Given the description of an element on the screen output the (x, y) to click on. 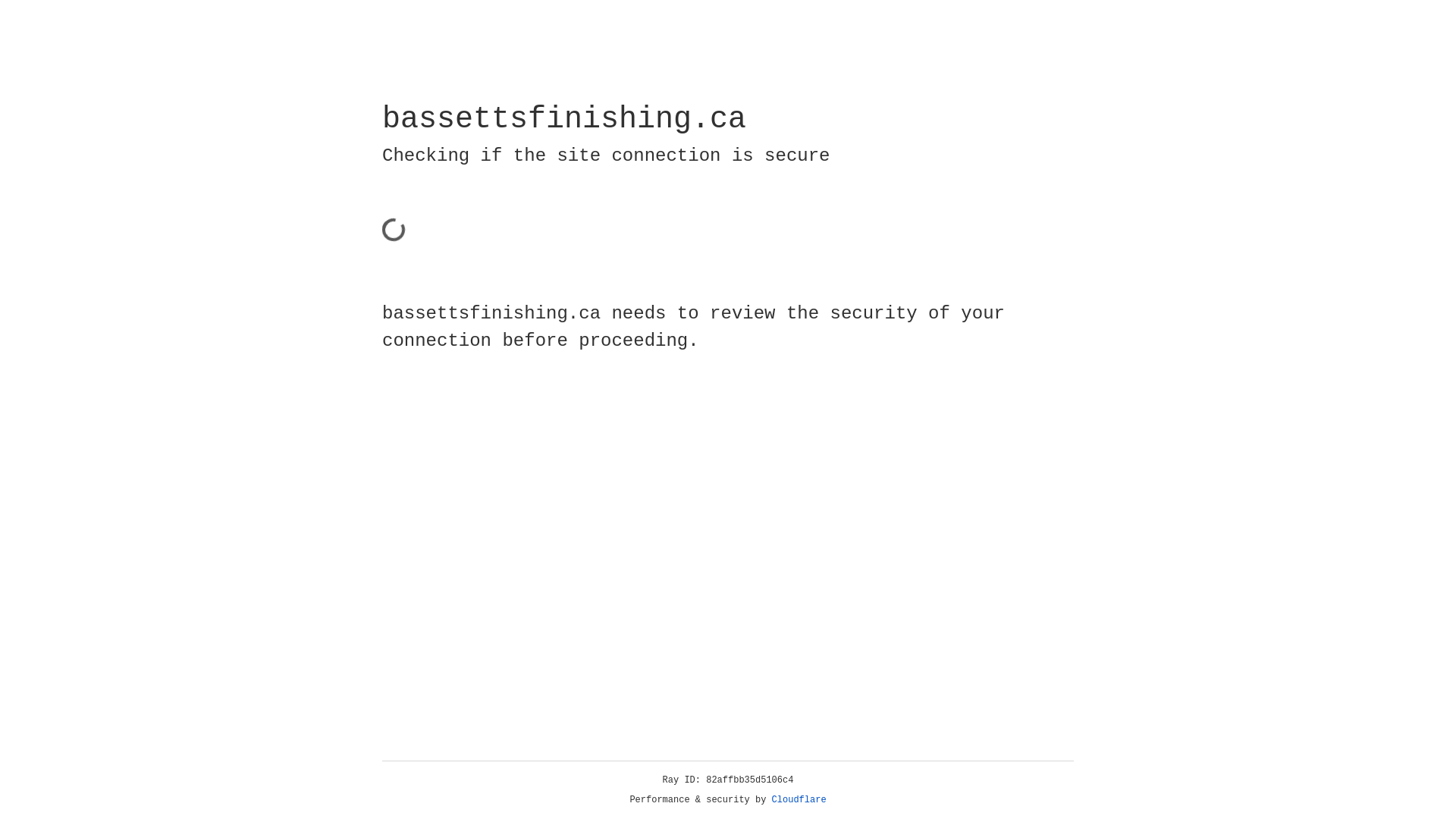
Cloudflare Element type: text (798, 799)
